Given the description of an element on the screen output the (x, y) to click on. 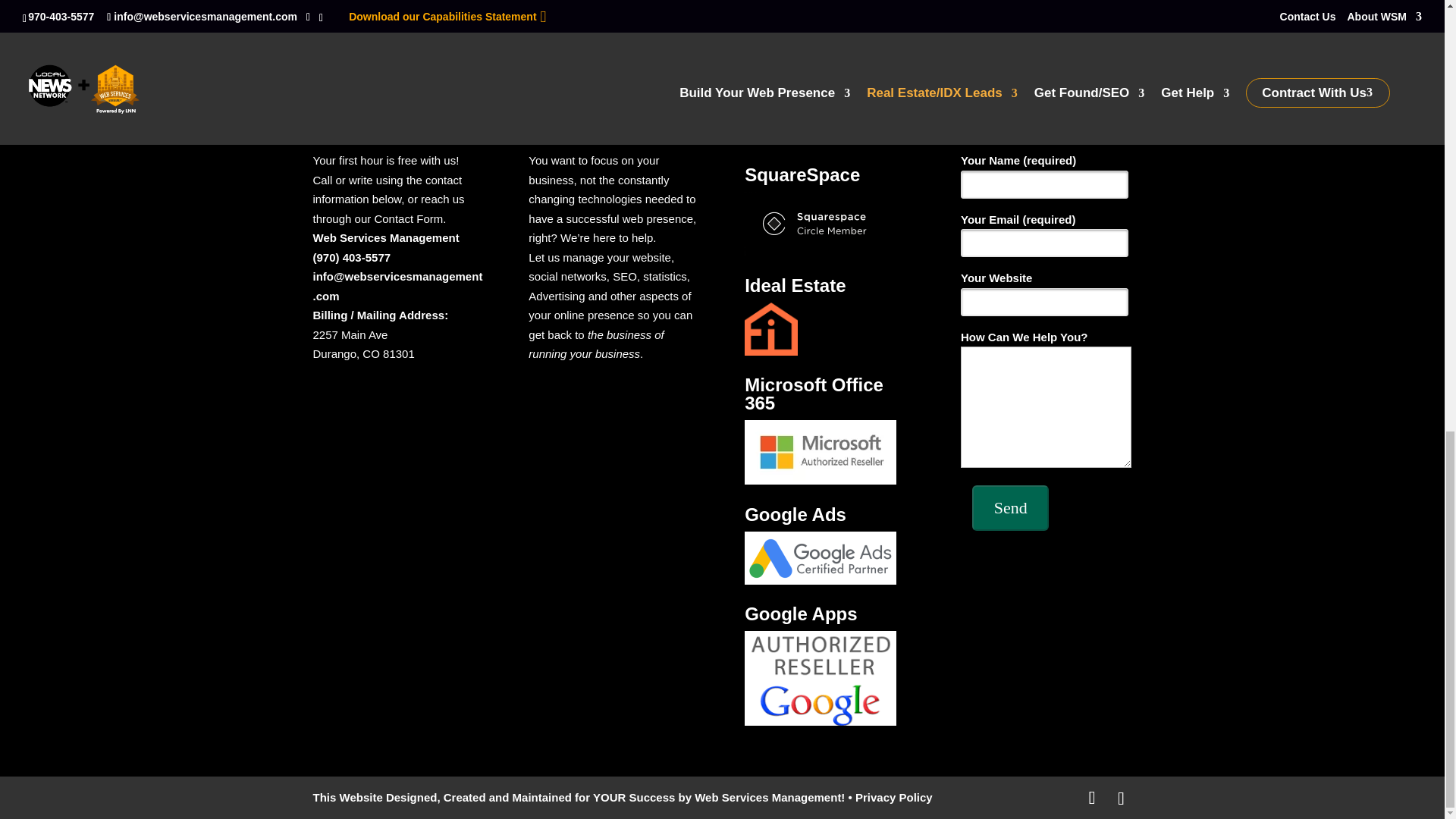
Send (1010, 507)
SquareSpace (820, 223)
Google Apps (820, 677)
Ideal Estate (770, 328)
Microsoft Office 365 (820, 452)
